Given the description of an element on the screen output the (x, y) to click on. 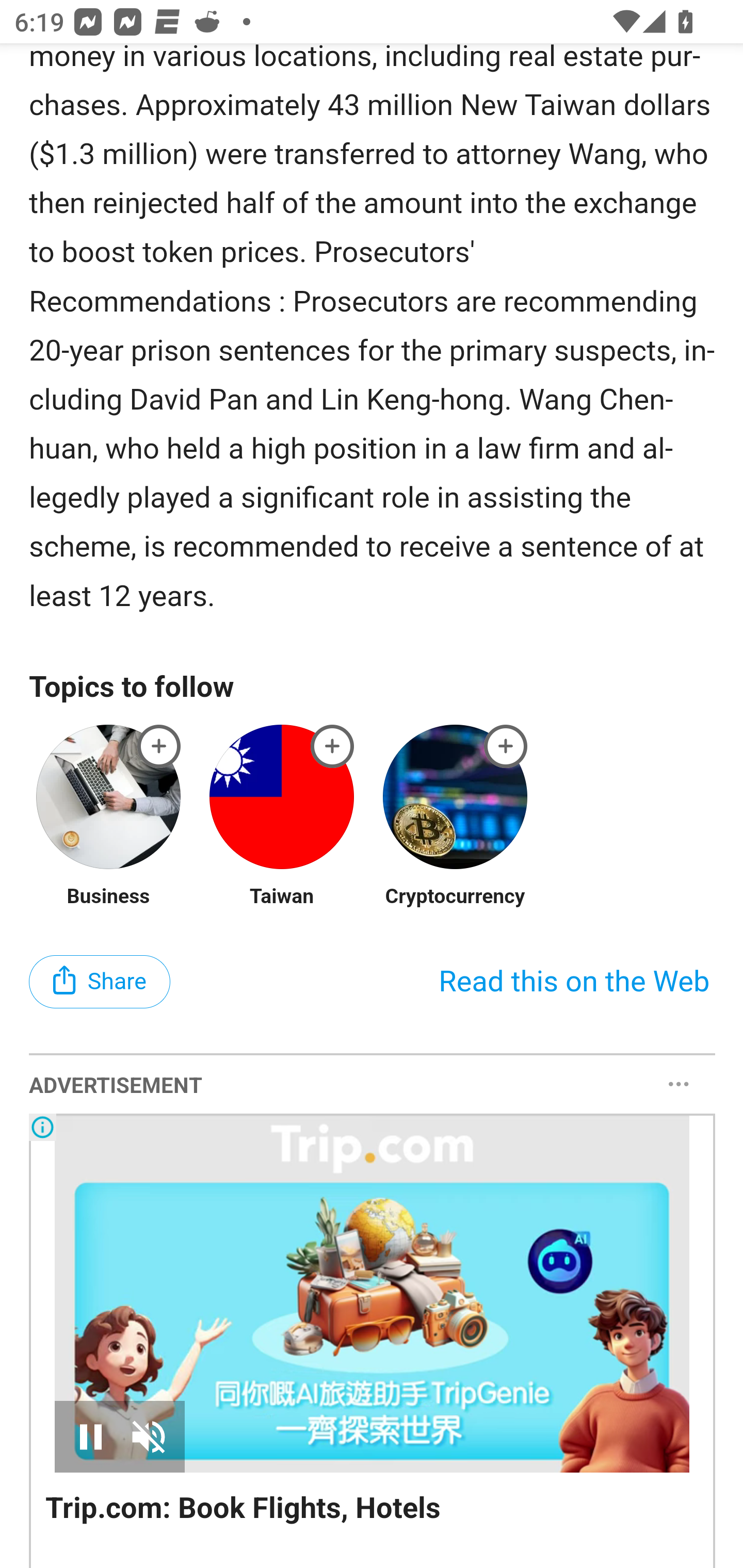
Business (108, 897)
Taiwan (281, 897)
Cryptocurrency (454, 897)
Read this on the Web (573, 982)
Share (99, 982)
